Given the description of an element on the screen output the (x, y) to click on. 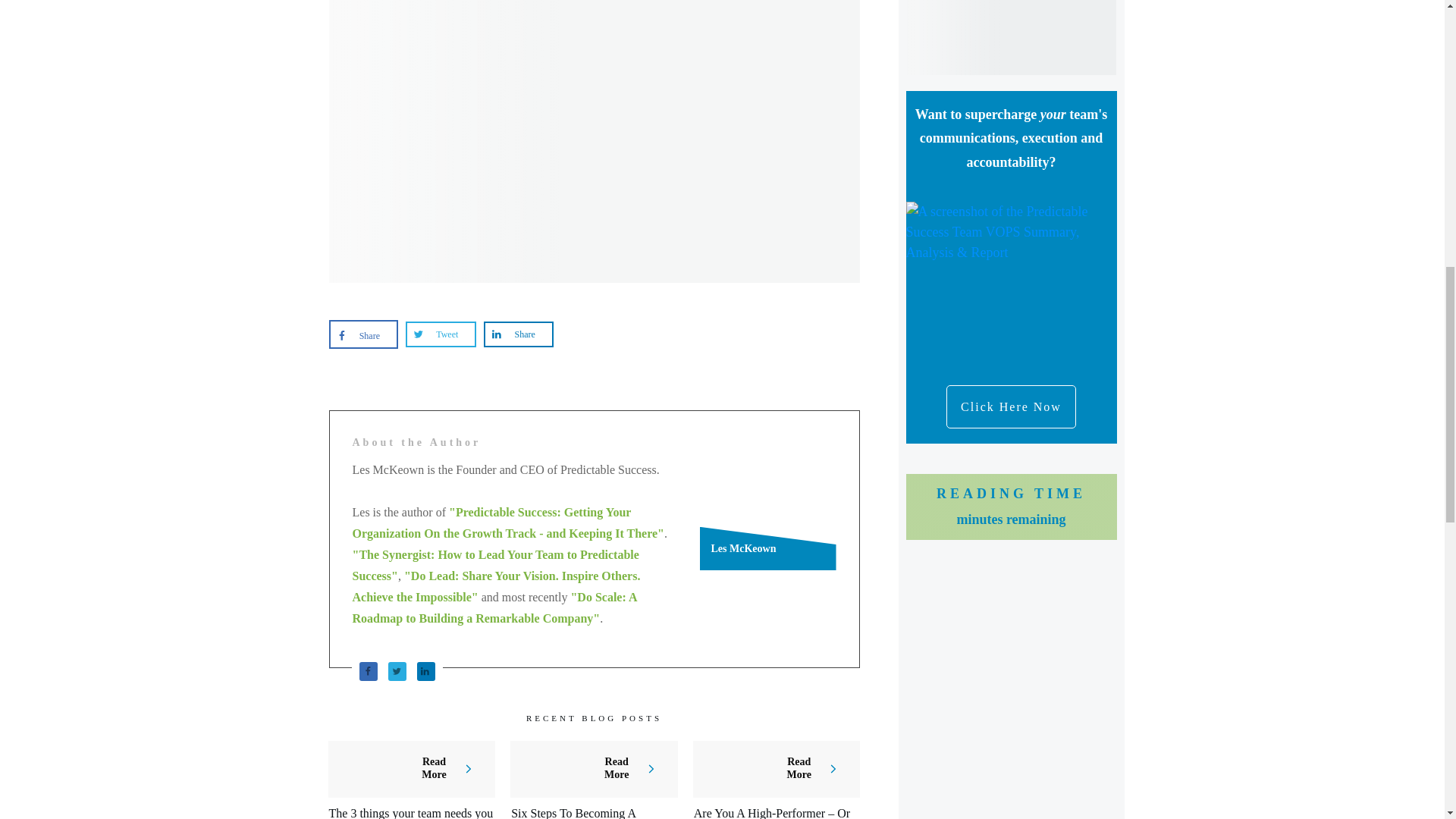
Read More (453, 768)
Six Steps To Becoming A Performance-Based Leader (577, 812)
Six Steps To Becoming A Performance-Based Leader (577, 812)
The 3 things your team needs you to do every weekend (411, 812)
Read More (635, 768)
Share (363, 335)
"Do Scale: A Roadmap to Building a Remarkable Company" (494, 607)
